Given the description of an element on the screen output the (x, y) to click on. 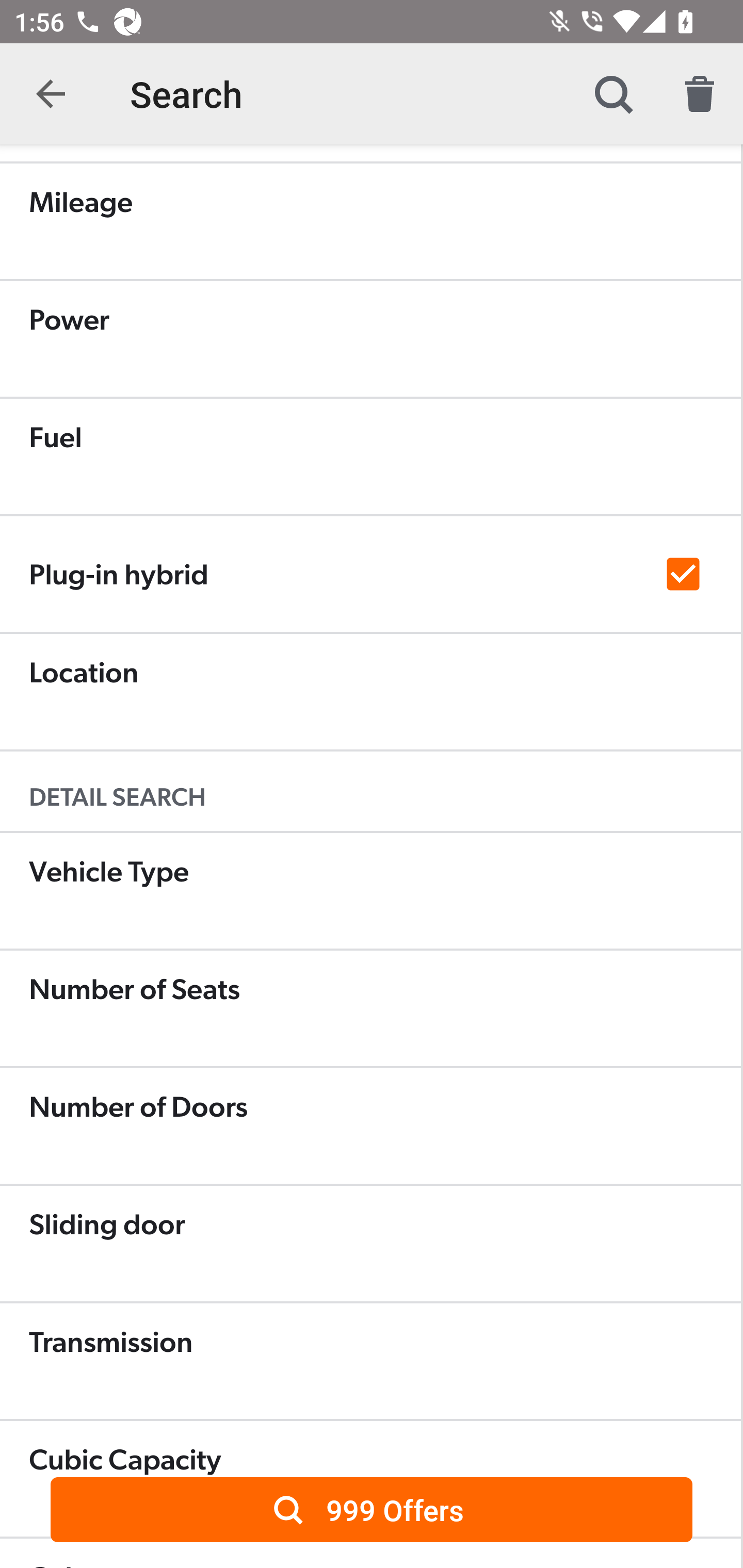
Navigate up (50, 93)
Search (612, 93)
Reset search (699, 93)
Mileage (370, 221)
Power (370, 338)
Fuel (370, 456)
Plug-in hybrid (370, 573)
Plug-in hybrid (369, 574)
Location (370, 691)
Vehicle Type (370, 890)
Number of Seats (370, 1008)
Number of Doors (370, 1125)
Sliding door (370, 1243)
Transmission (370, 1361)
999 Offers (371, 1509)
